Given the description of an element on the screen output the (x, y) to click on. 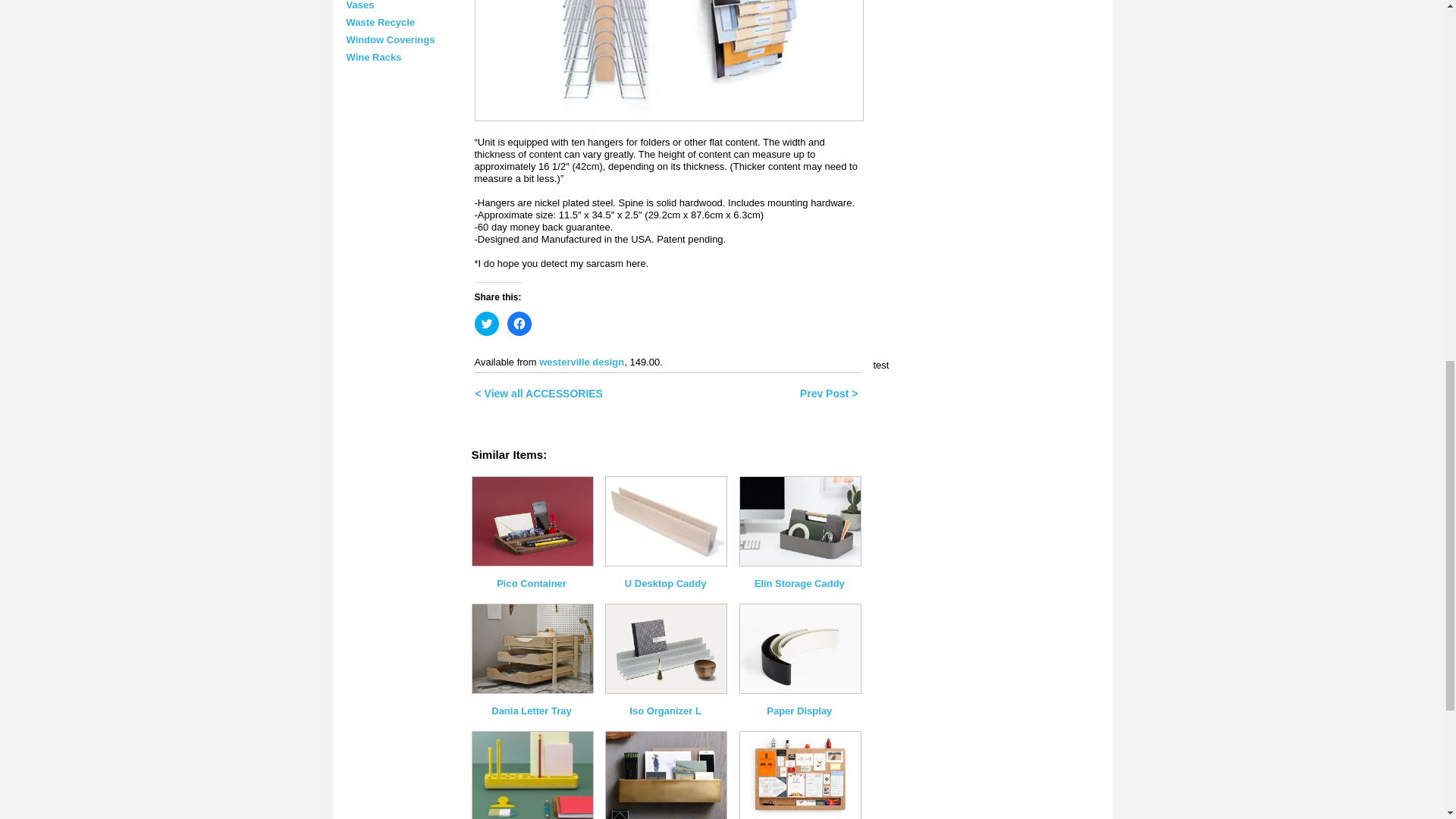
3rd party ad content (986, 47)
3rd party ad content (986, 226)
3rd party ad content (986, 466)
Click to share on Facebook (518, 323)
Click to share on Twitter (486, 323)
